Given the description of an element on the screen output the (x, y) to click on. 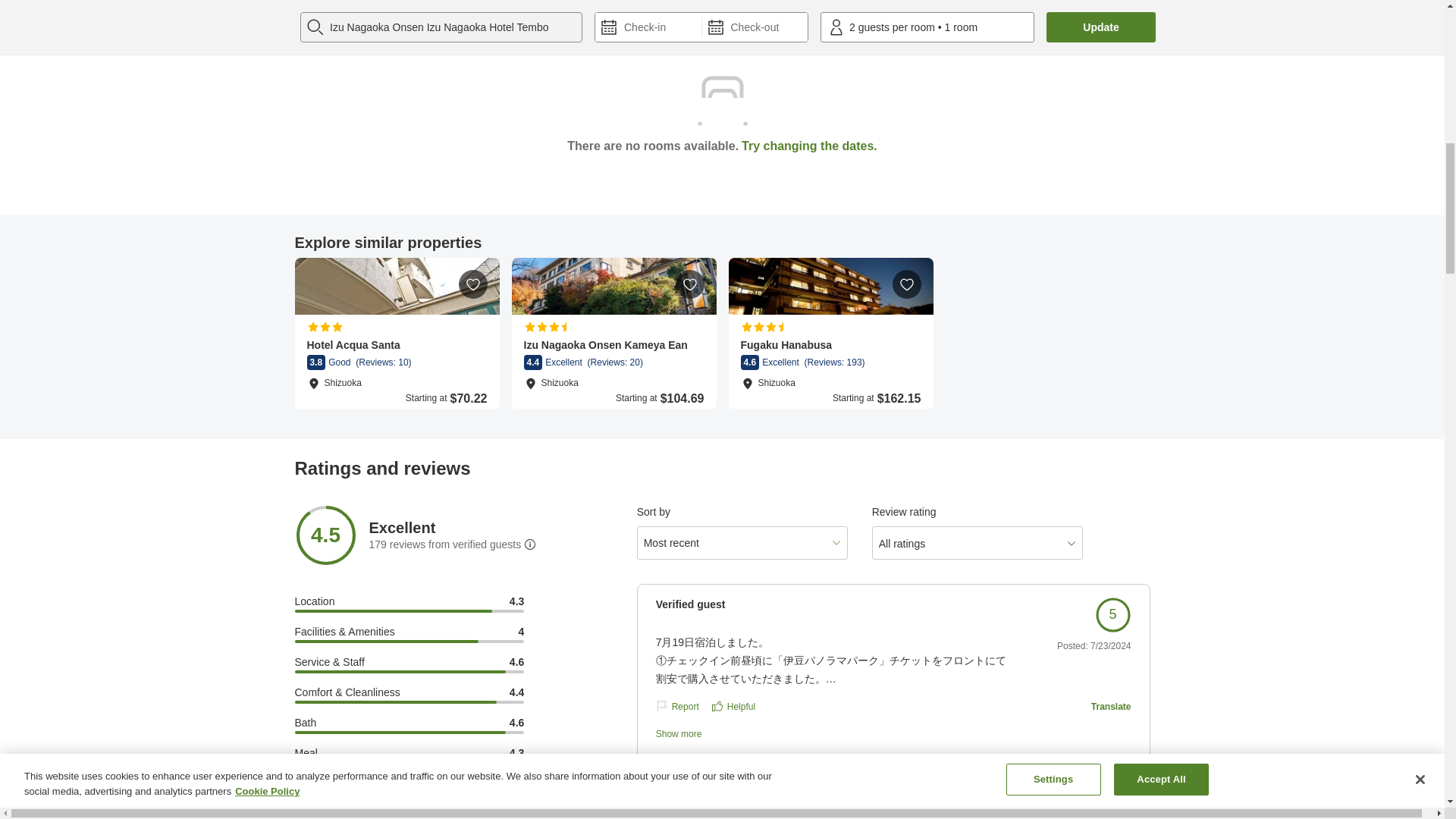
Helpful (733, 705)
Translate (1110, 705)
Report (677, 705)
Show more (734, 734)
